Given the description of an element on the screen output the (x, y) to click on. 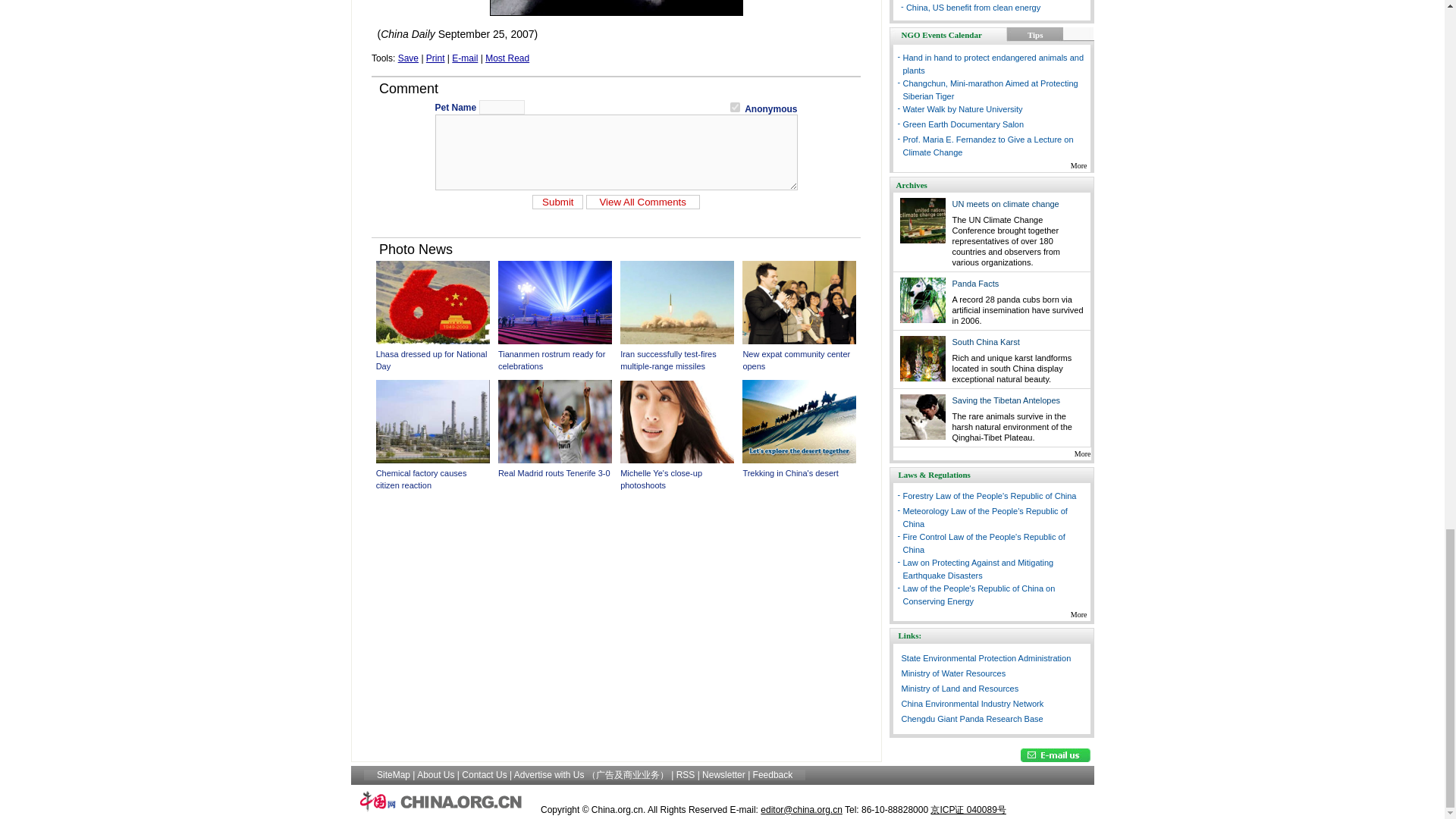
View All Comments (643, 201)
Most Read (506, 58)
Save (408, 58)
Submit (557, 201)
Print (435, 58)
1 (734, 107)
E-mail (464, 58)
